Given the description of an element on the screen output the (x, y) to click on. 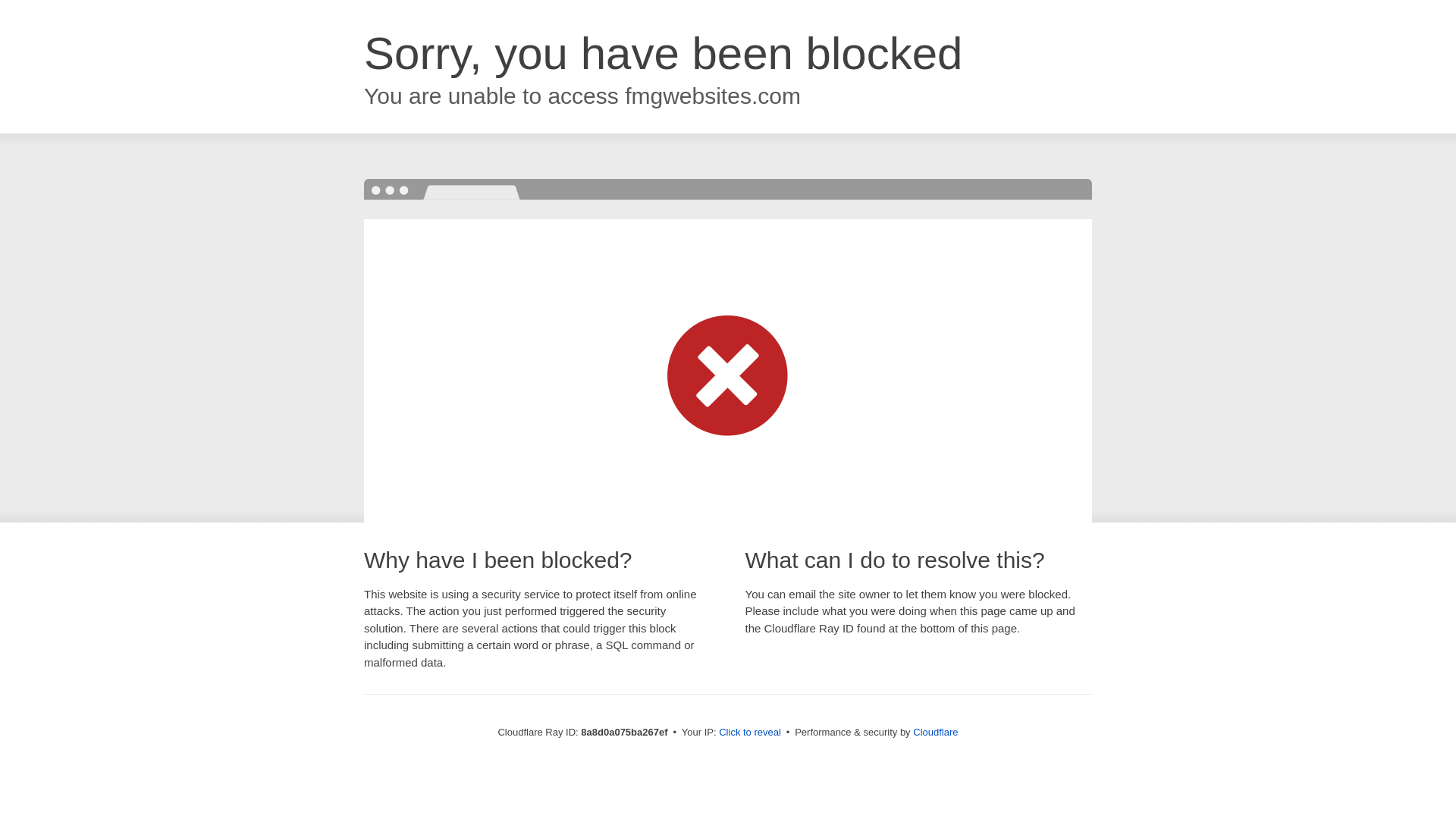
Click to reveal (749, 732)
Cloudflare (935, 731)
